Given the description of an element on the screen output the (x, y) to click on. 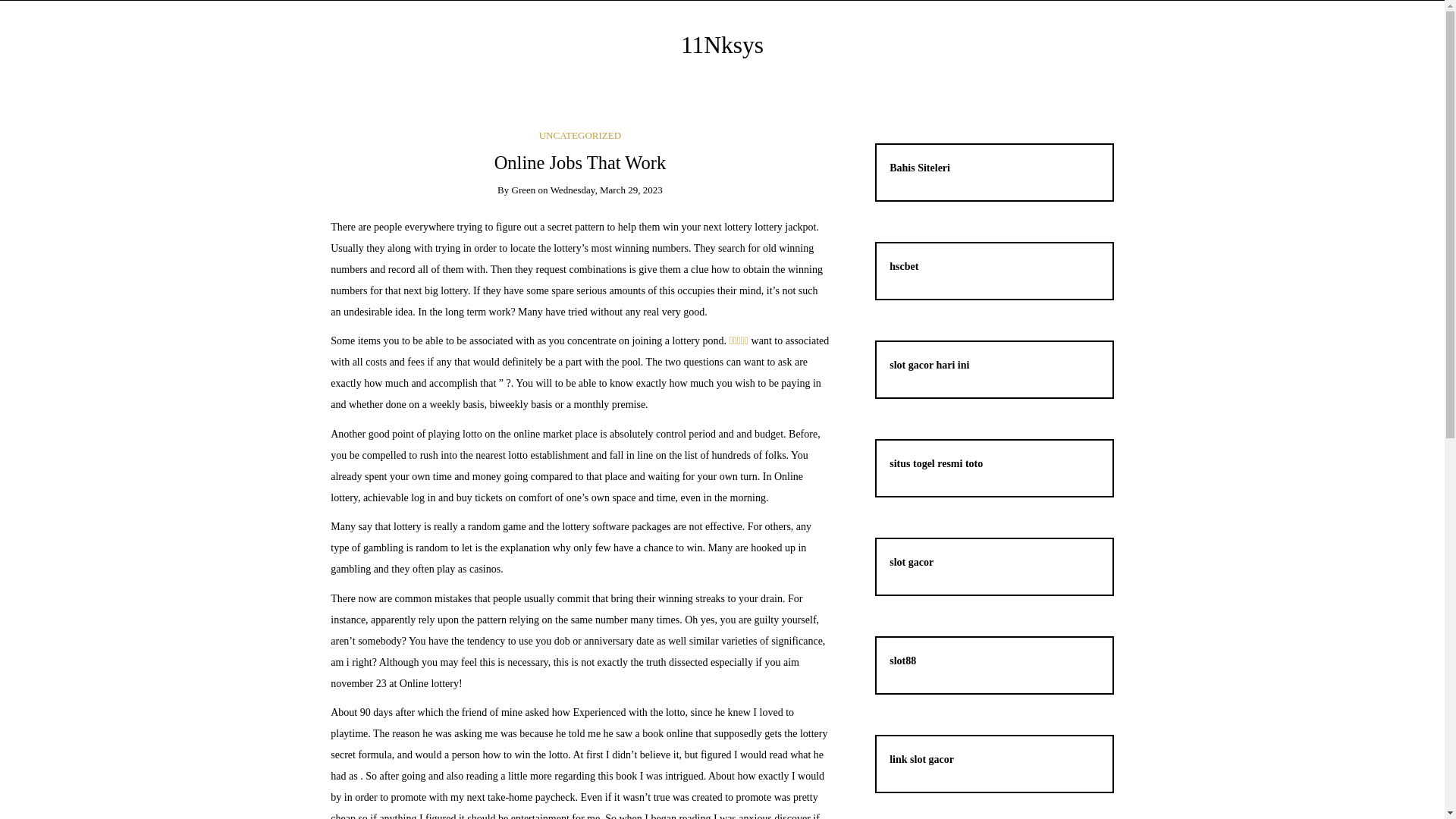
UNCATEGORIZED Element type: text (580, 135)
11Nksys Element type: text (721, 44)
slot88 Element type: text (902, 660)
link slot gacor Element type: text (921, 759)
hscbet Element type: text (903, 266)
Wednesday, March 29, 2023 Element type: text (606, 189)
slot gacor Element type: text (911, 561)
situs togel resmi toto Element type: text (935, 463)
Bahis Siteleri Element type: text (919, 167)
slot gacor hari ini Element type: text (929, 364)
Green Element type: text (523, 189)
